Given the description of an element on the screen output the (x, y) to click on. 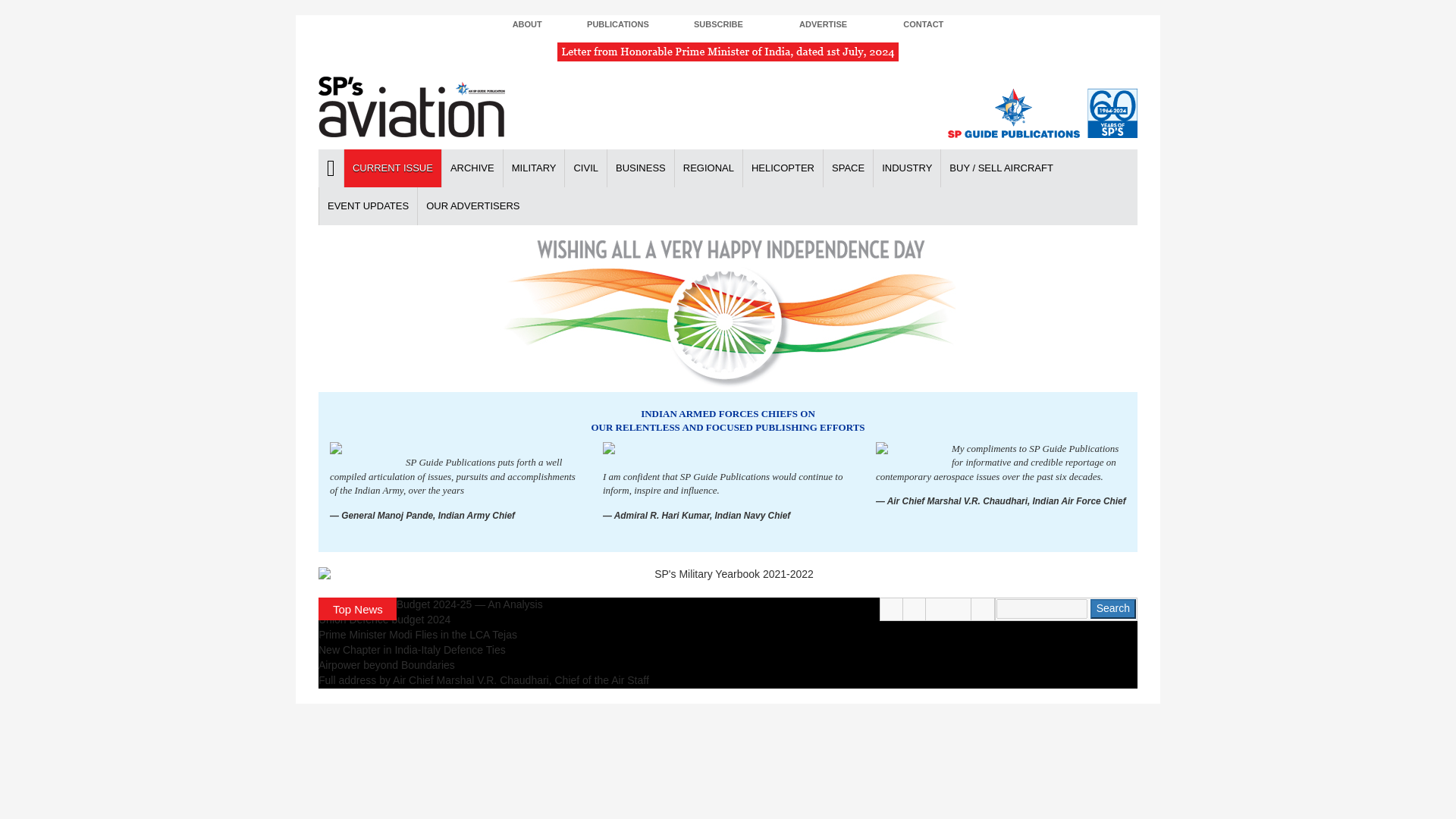
REGIONAL (708, 168)
INDUSTRY (906, 168)
ARCHIVE (471, 168)
CIVIL (585, 168)
PUBLICATIONS (617, 25)
Search (1112, 608)
CONTACT (922, 25)
HELICOPTER (782, 168)
MILITARY (533, 168)
CURRENT ISSUE (392, 168)
